Given the description of an element on the screen output the (x, y) to click on. 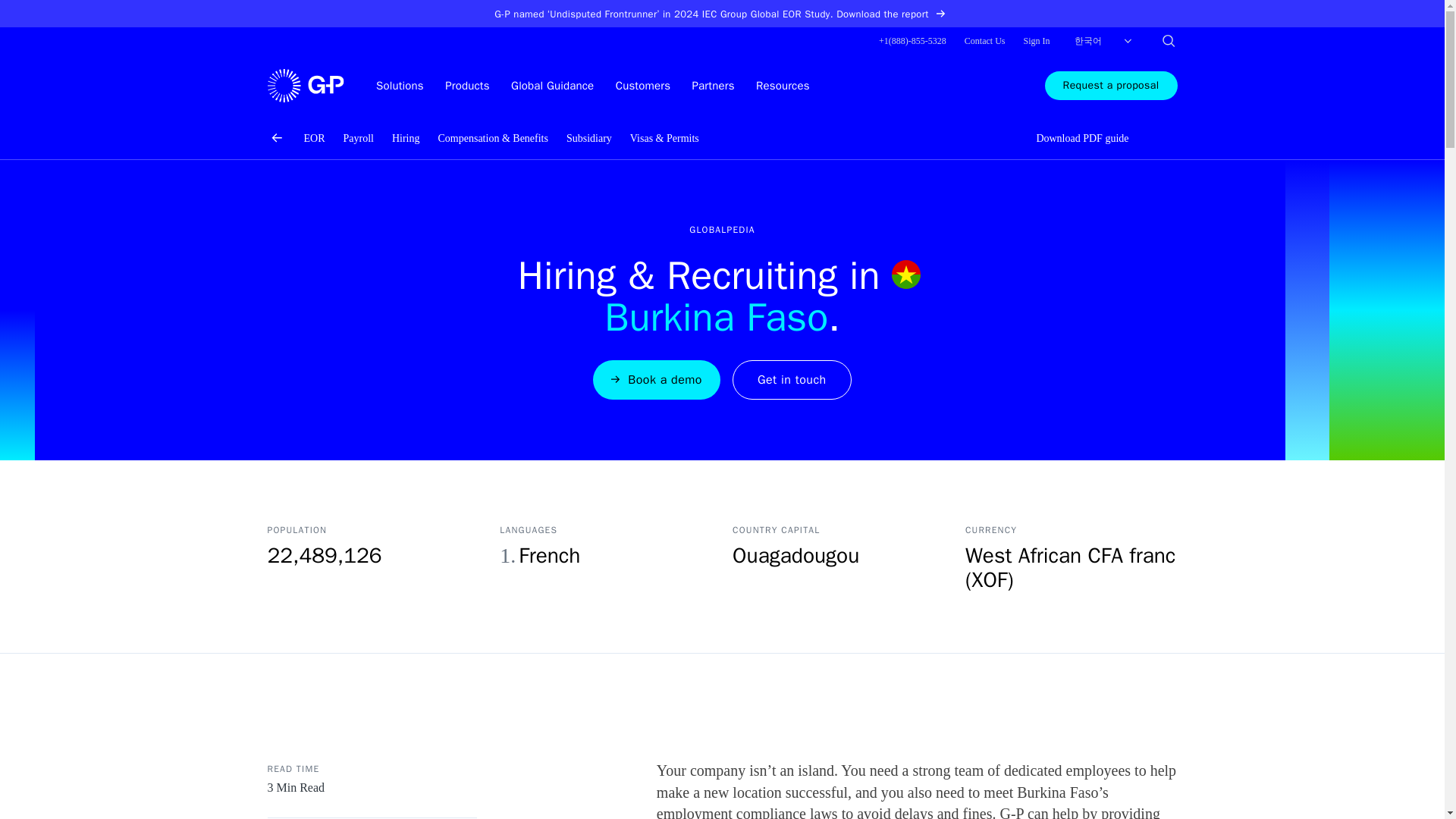
Download PDF guide (1072, 138)
Hiring (405, 138)
Subsidiary (588, 138)
EOR (313, 138)
Solutions (399, 85)
Request a proposal (1111, 85)
Resources (782, 85)
Customers (642, 85)
Payroll (357, 138)
Partners (714, 85)
Global Guidance (552, 85)
Contact Us (984, 40)
Book a demo (656, 379)
Get in touch (791, 379)
Sign In (1036, 40)
